Given the description of an element on the screen output the (x, y) to click on. 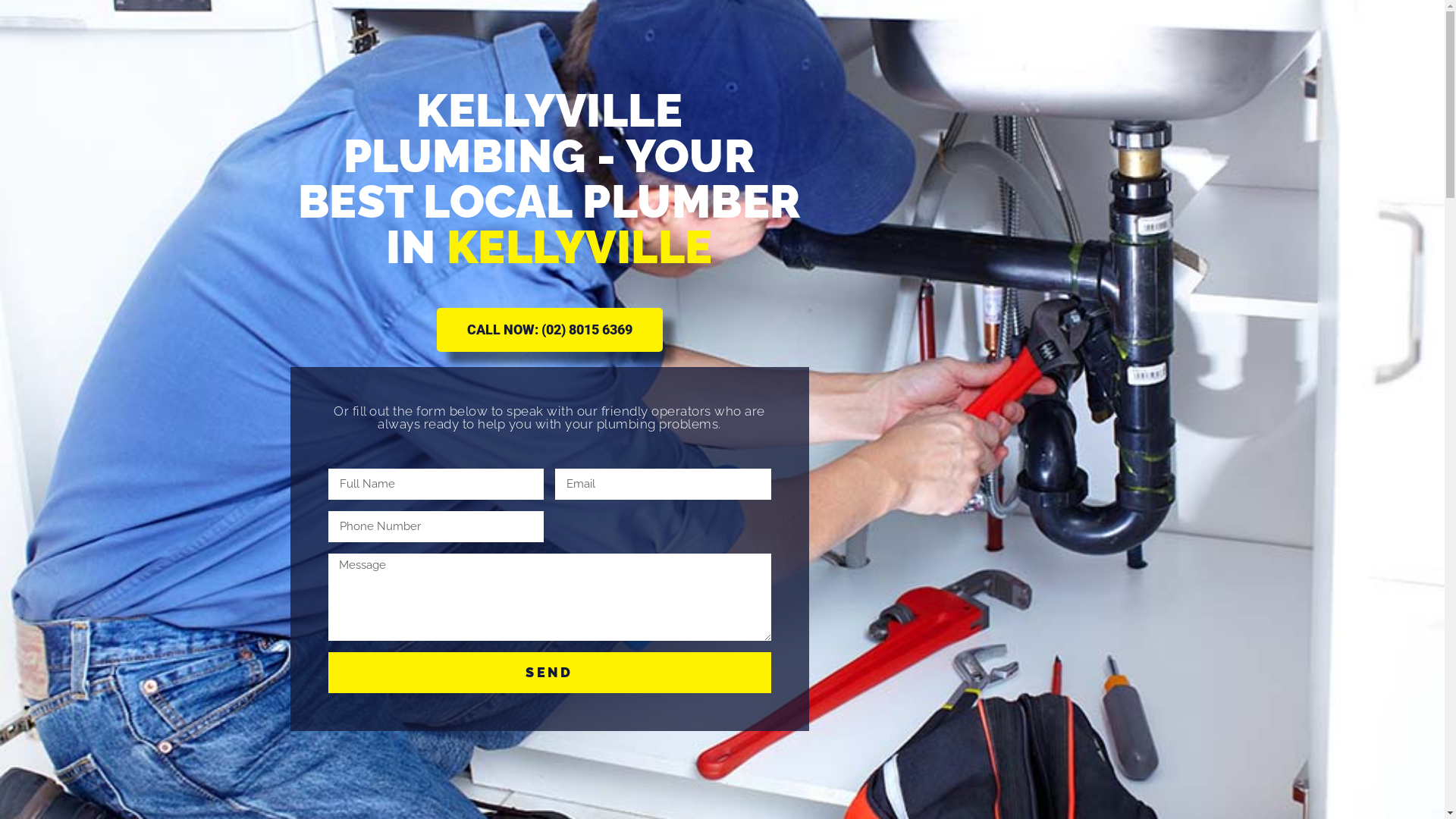
SEND Element type: text (548, 672)
CALL NOW: (02) 8015 6369 Element type: text (549, 329)
